Given the description of an element on the screen output the (x, y) to click on. 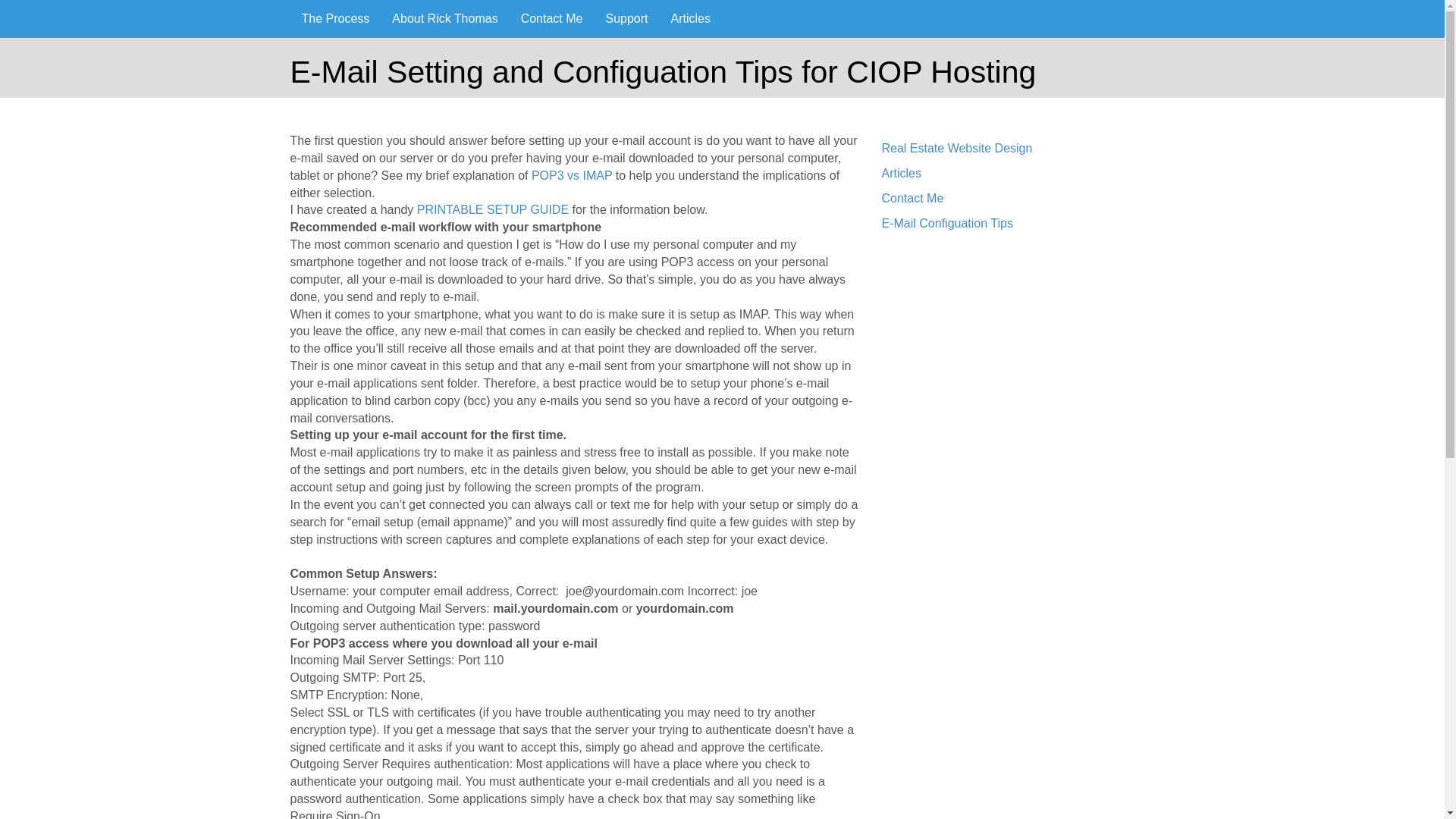
Contact Me (911, 197)
Contact Me (551, 18)
PRINTABLE SETUP GUIDE (492, 209)
POP3 vs IMAP (571, 174)
Pueblo Colorado Web Design (389, 18)
Articles (690, 18)
The Process (334, 18)
E-Mail Configuation Tips (945, 223)
About Rick Thomas (444, 18)
Articles (900, 173)
